Given the description of an element on the screen output the (x, y) to click on. 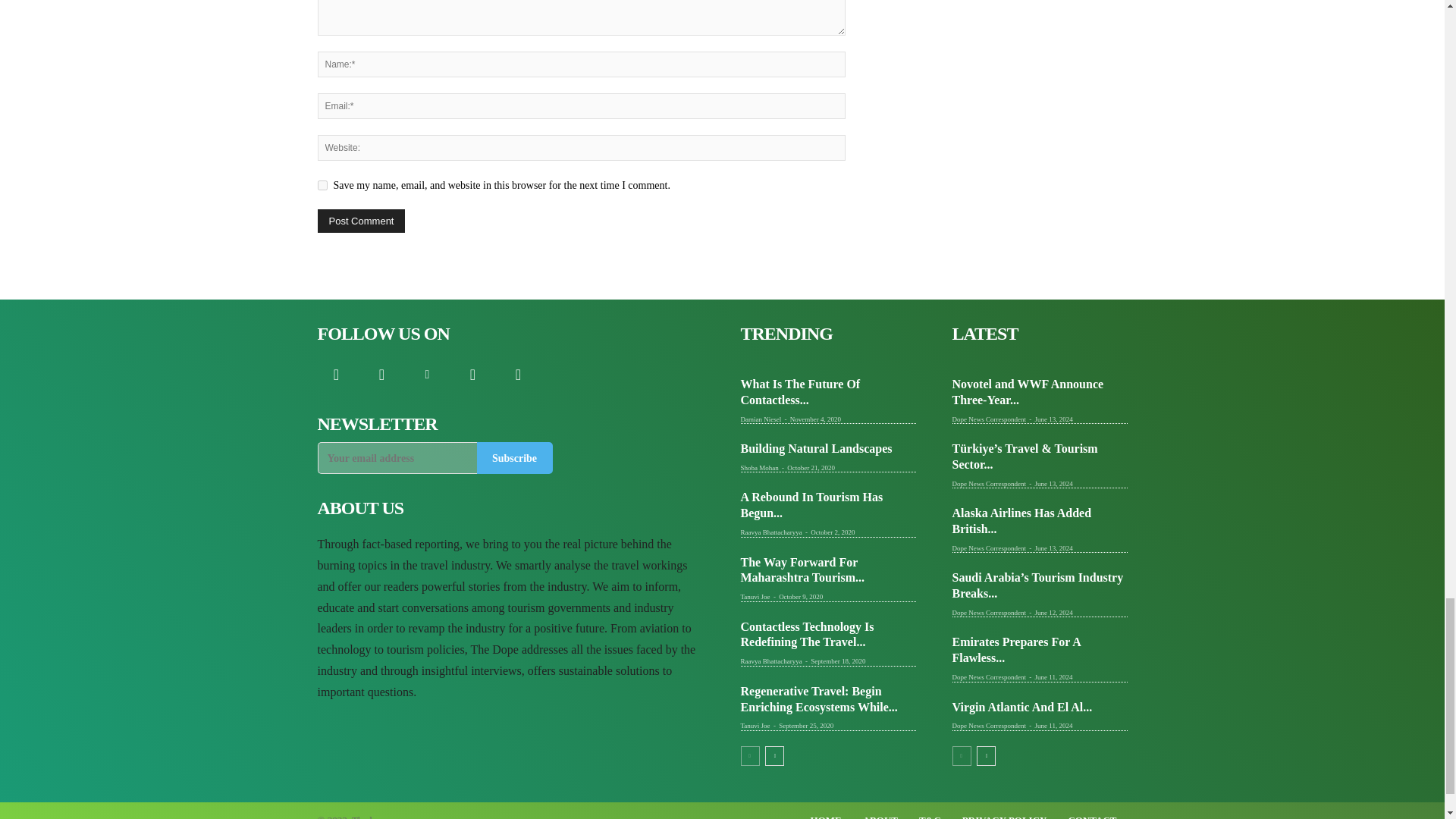
yes (321, 185)
Post Comment (360, 220)
